Given the description of an element on the screen output the (x, y) to click on. 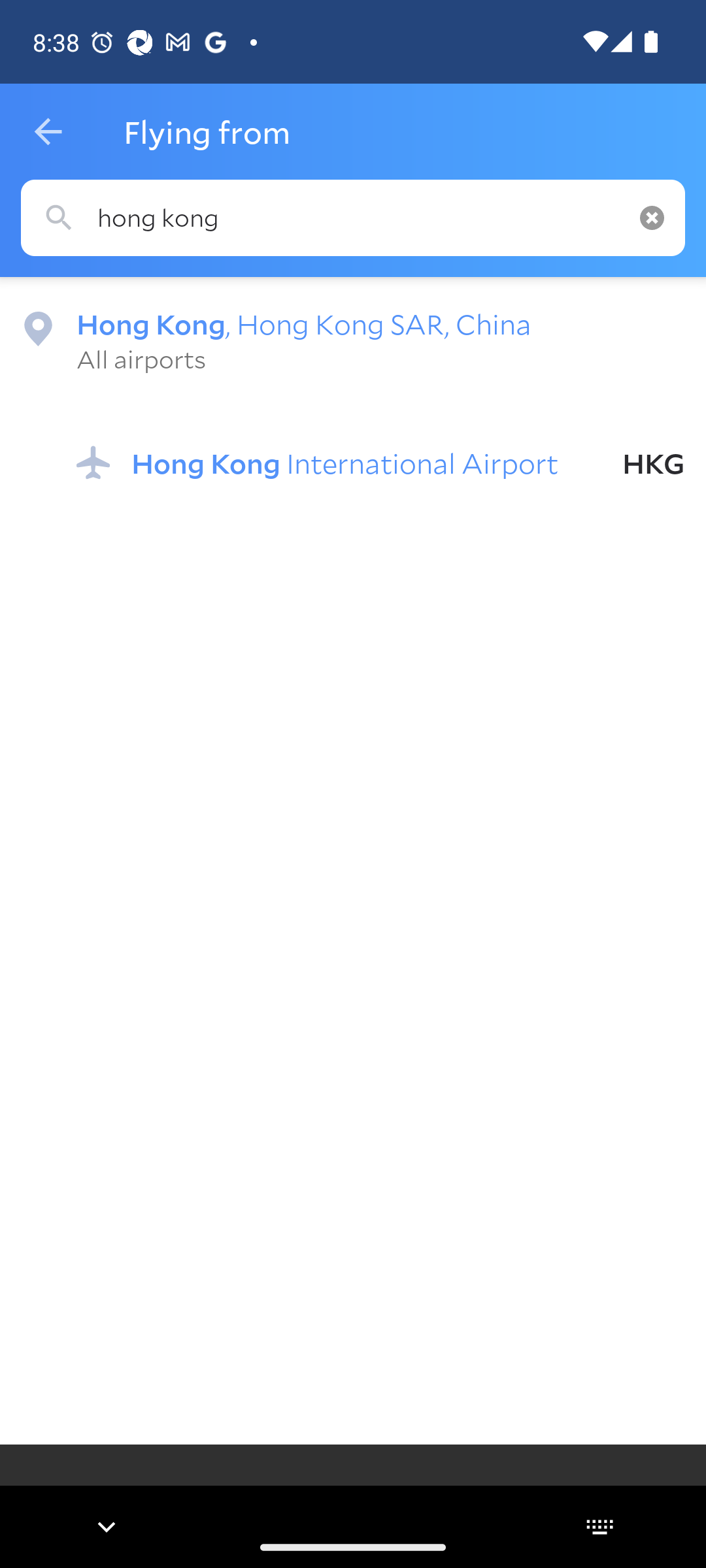
Navigate up (48, 131)
hong kong (352, 217)
Hong Kong, Hong Kong SAR, China All airports (353, 339)
Hong Kong International Airport HKG (380, 462)
